Given the description of an element on the screen output the (x, y) to click on. 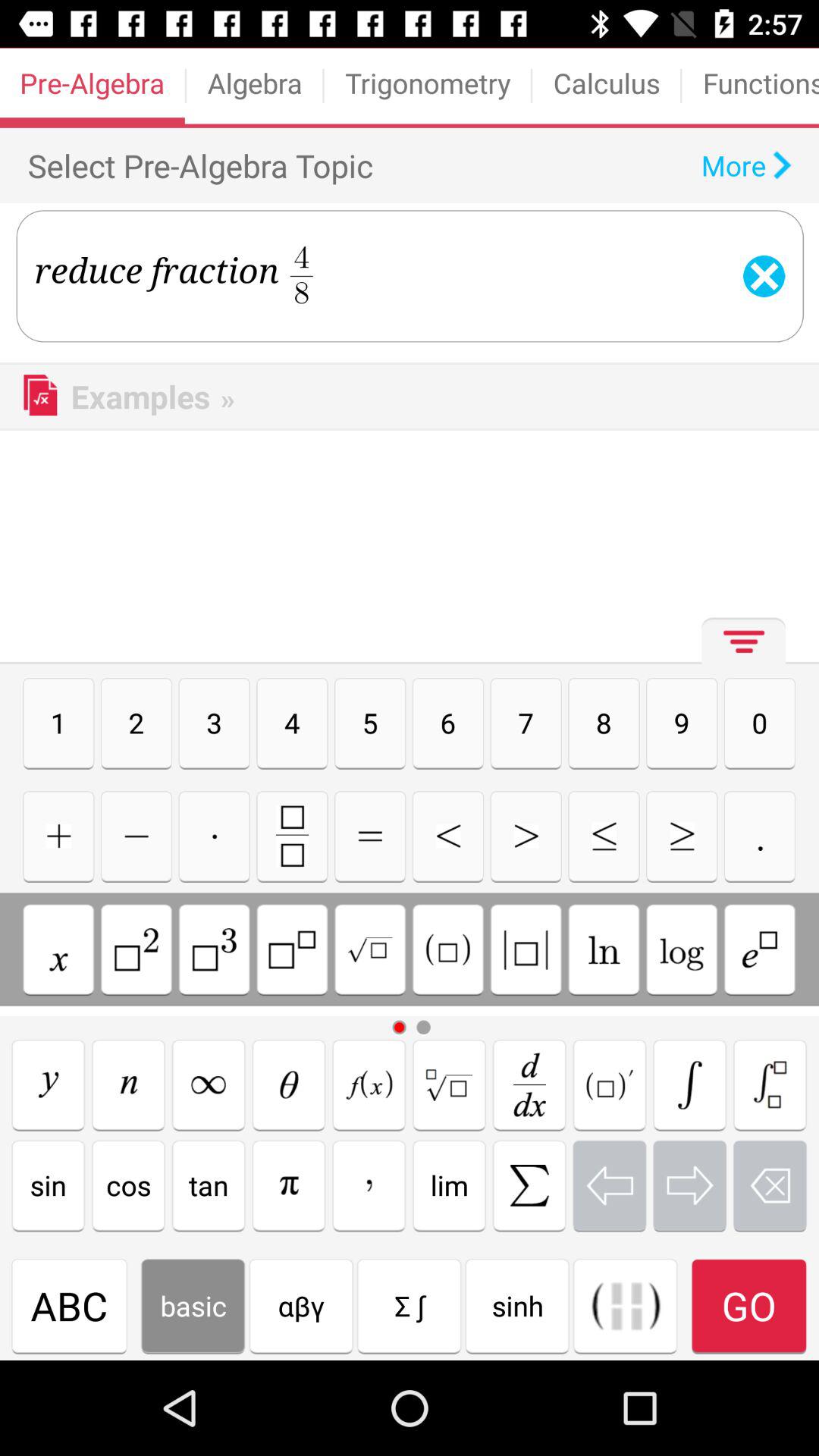
use this math function (128, 1084)
